Given the description of an element on the screen output the (x, y) to click on. 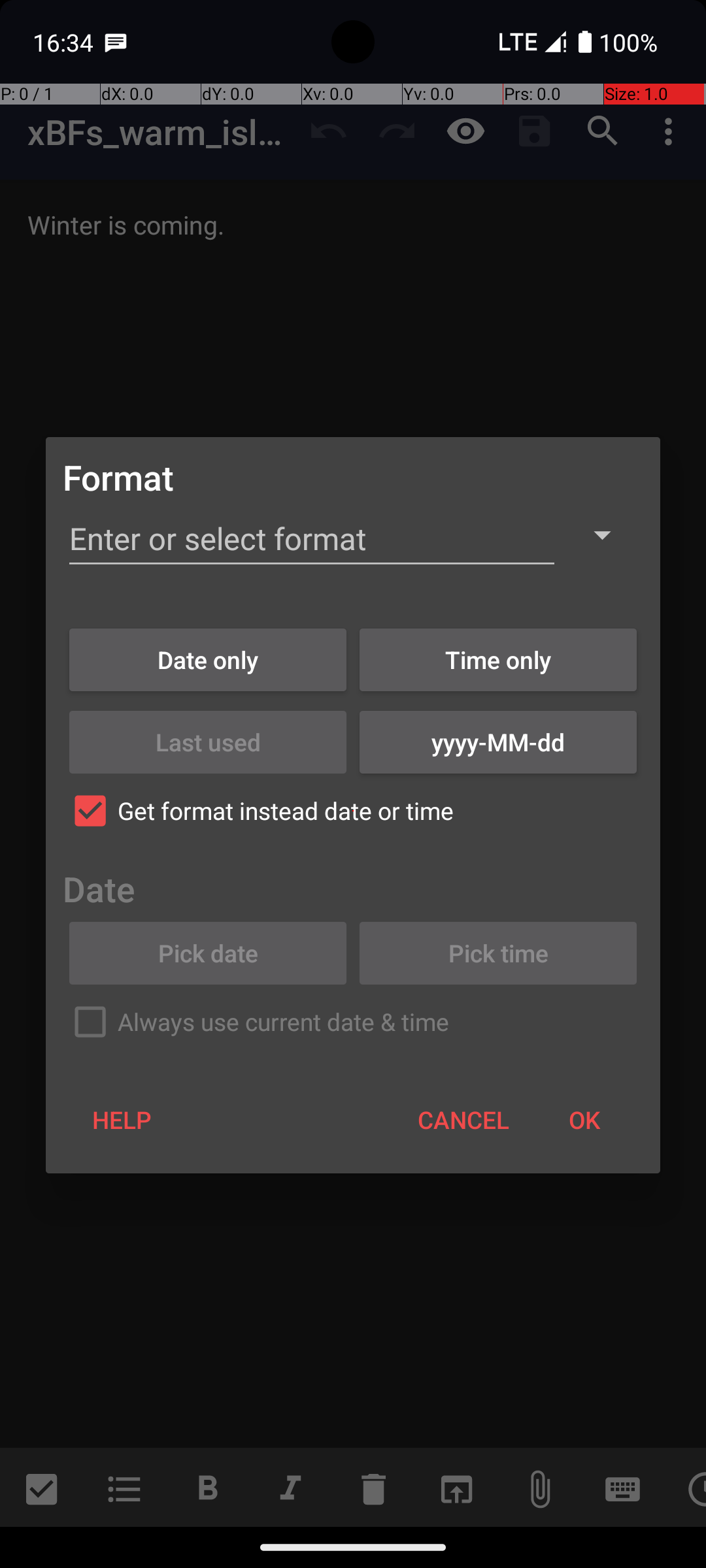
16:34 Element type: android.widget.TextView (64, 41)
